Given the description of an element on the screen output the (x, y) to click on. 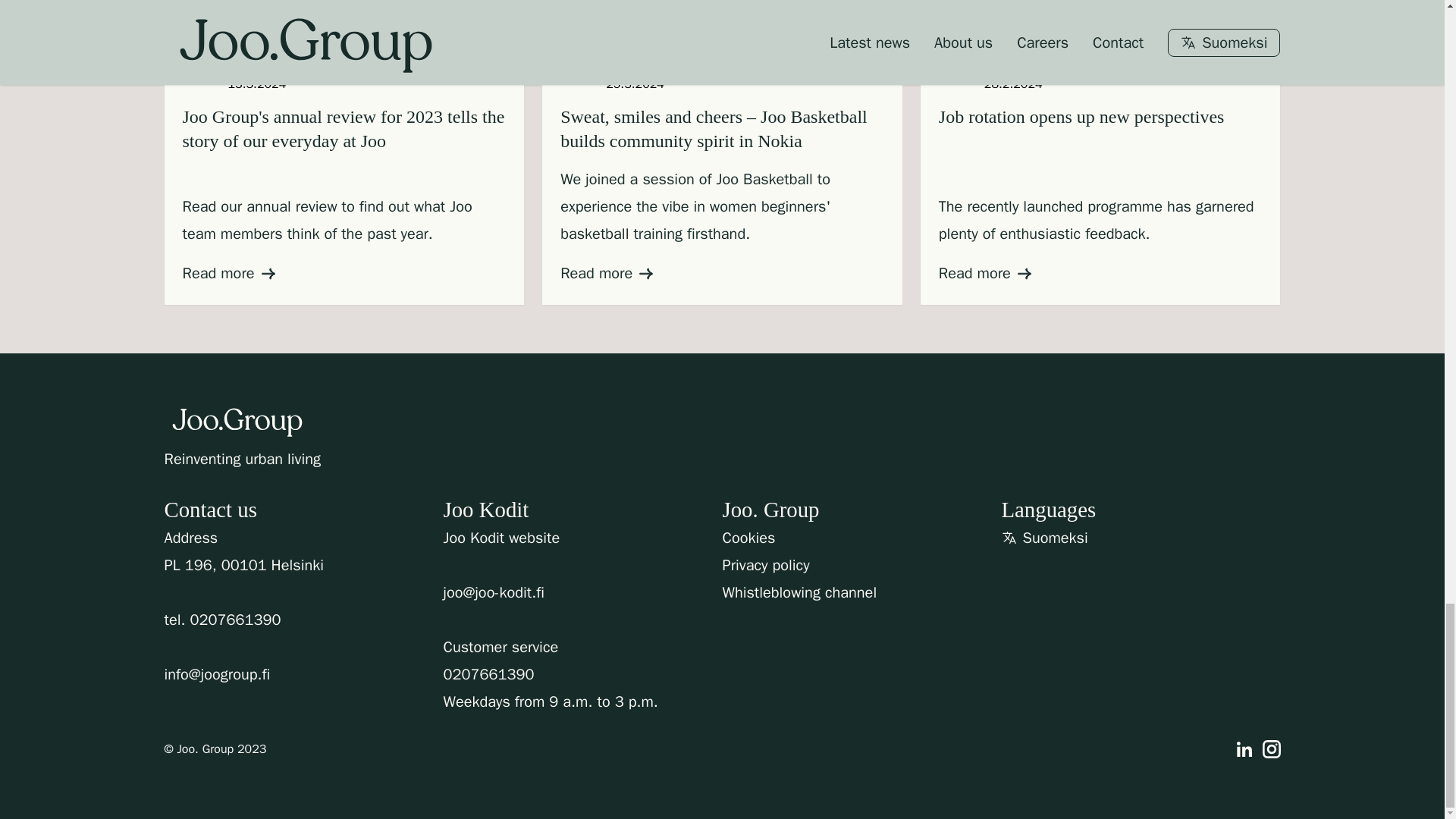
Privacy policy (765, 564)
Whistleblowing channel (799, 592)
0207661390 (488, 674)
Read more (984, 273)
Read more (228, 273)
Joo-kodit.fi (500, 537)
0207661390 (235, 619)
Suomeksi (1050, 537)
Read more (606, 273)
Cookies (748, 537)
